Given the description of an element on the screen output the (x, y) to click on. 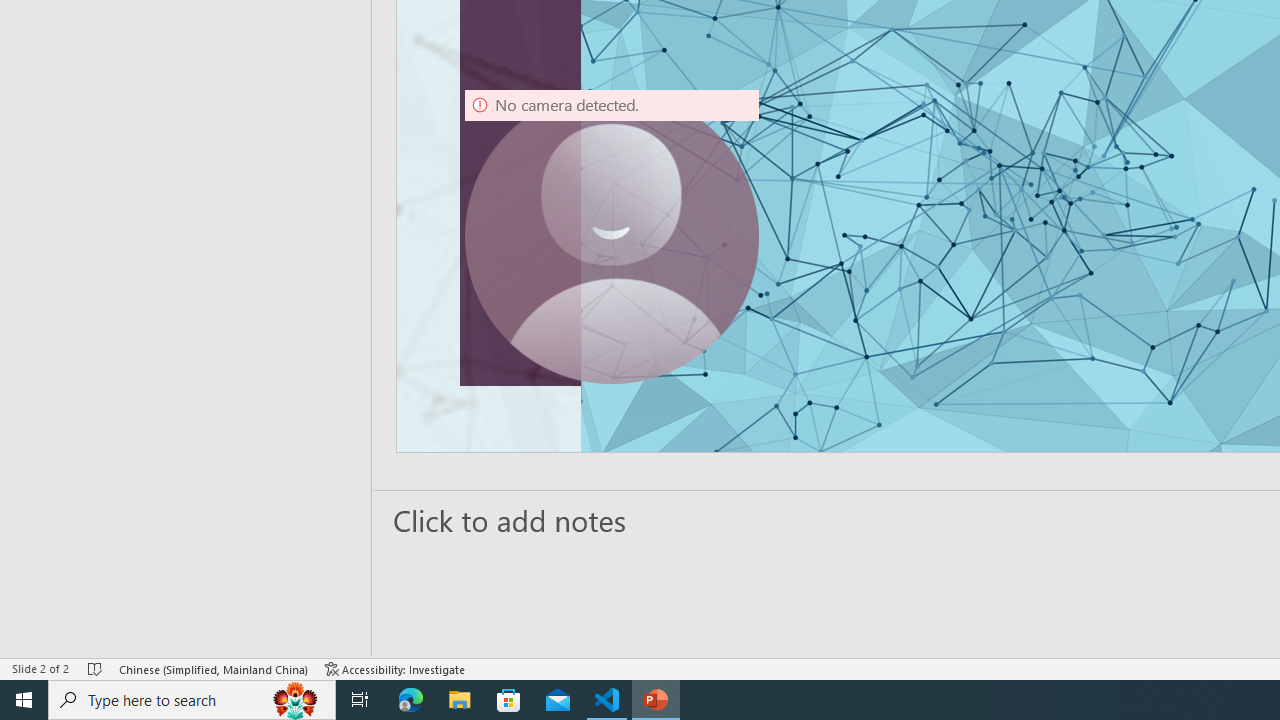
Camera 9, No camera detected. (612, 236)
